Given the description of an element on the screen output the (x, y) to click on. 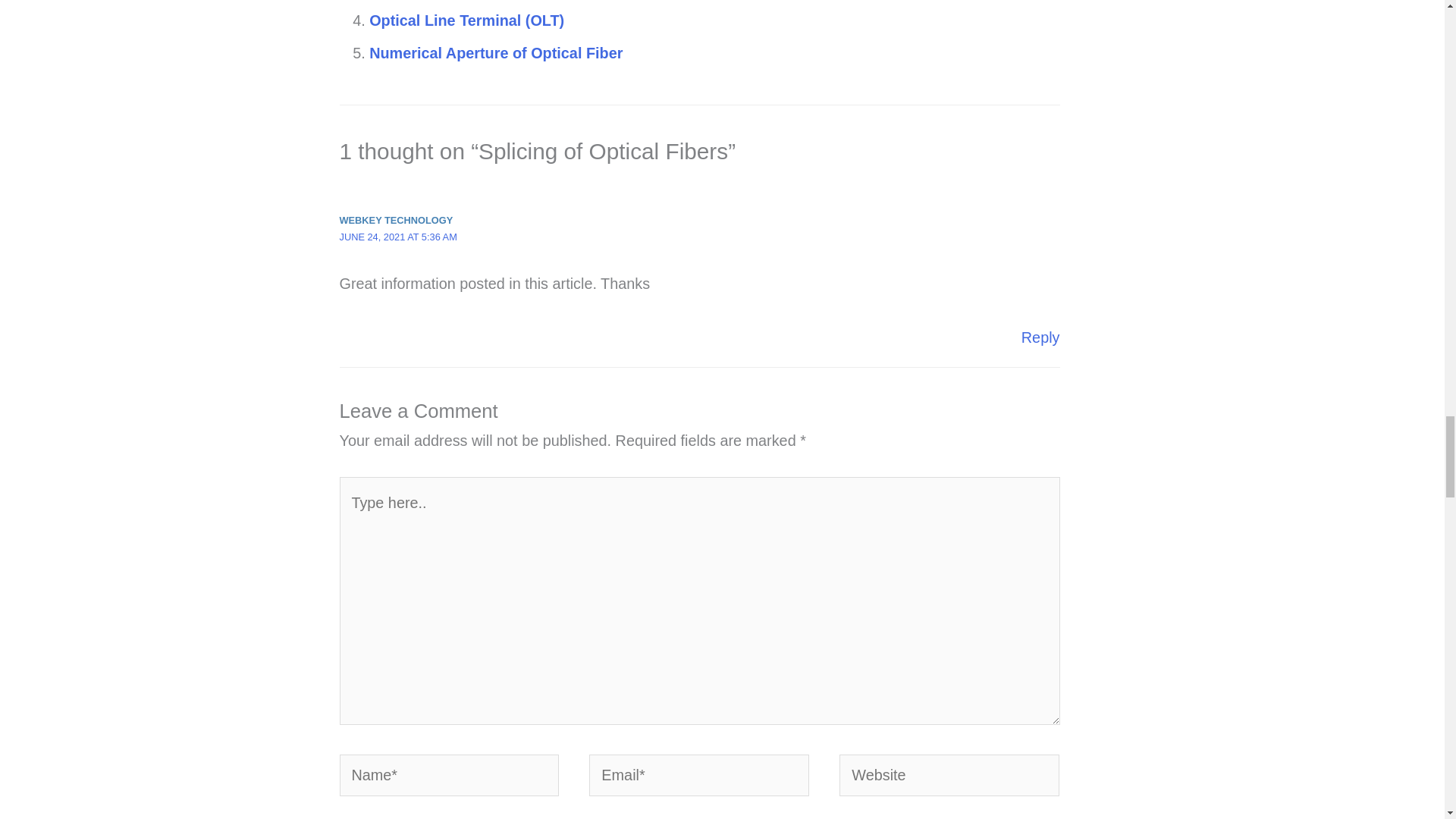
Numerical Aperture of Optical Fiber (496, 53)
